Given the description of an element on the screen output the (x, y) to click on. 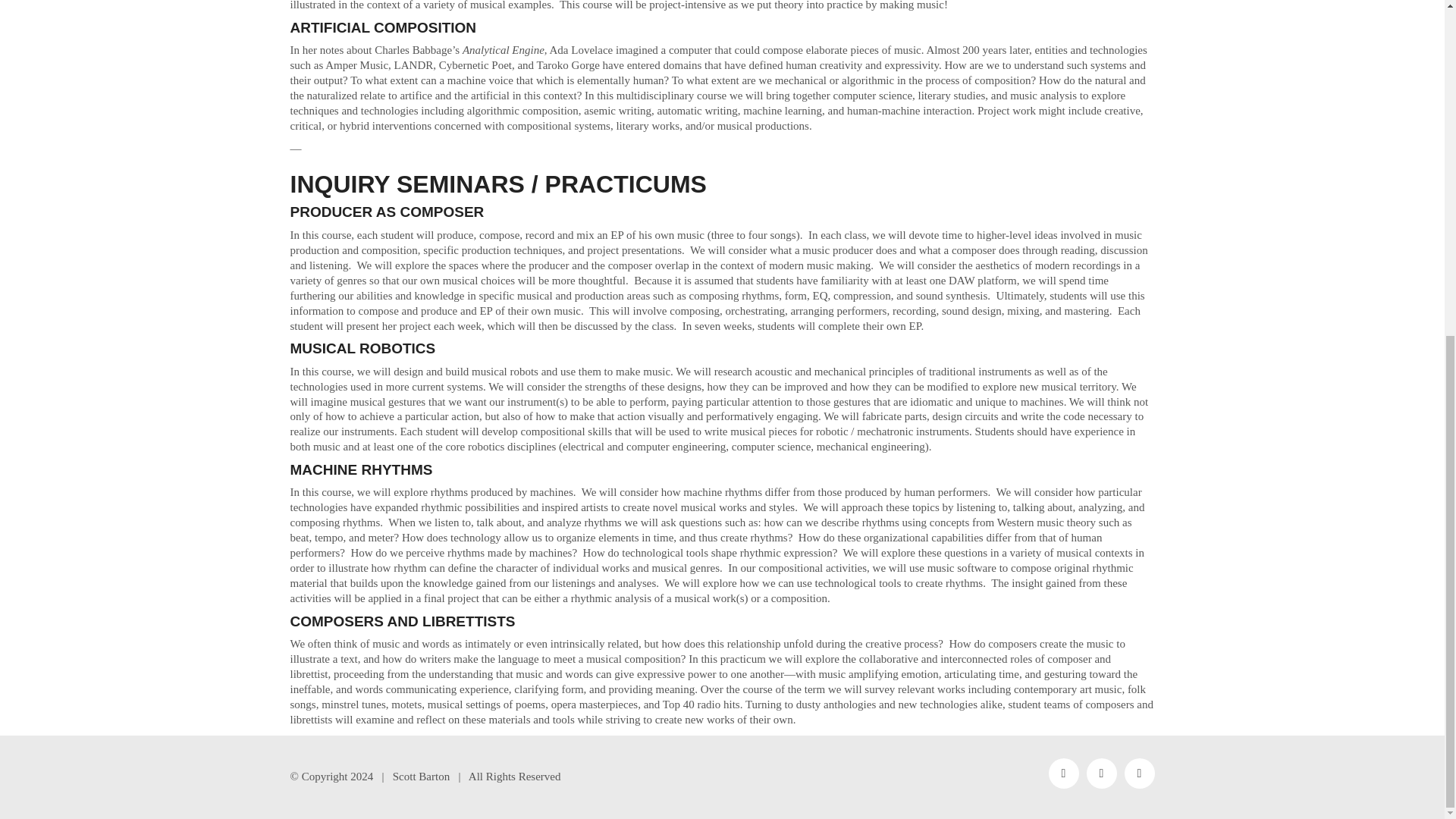
Spotify (1139, 773)
SoundCloud (1063, 773)
Scott Barton (421, 776)
YouTube (1101, 773)
